Given the description of an element on the screen output the (x, y) to click on. 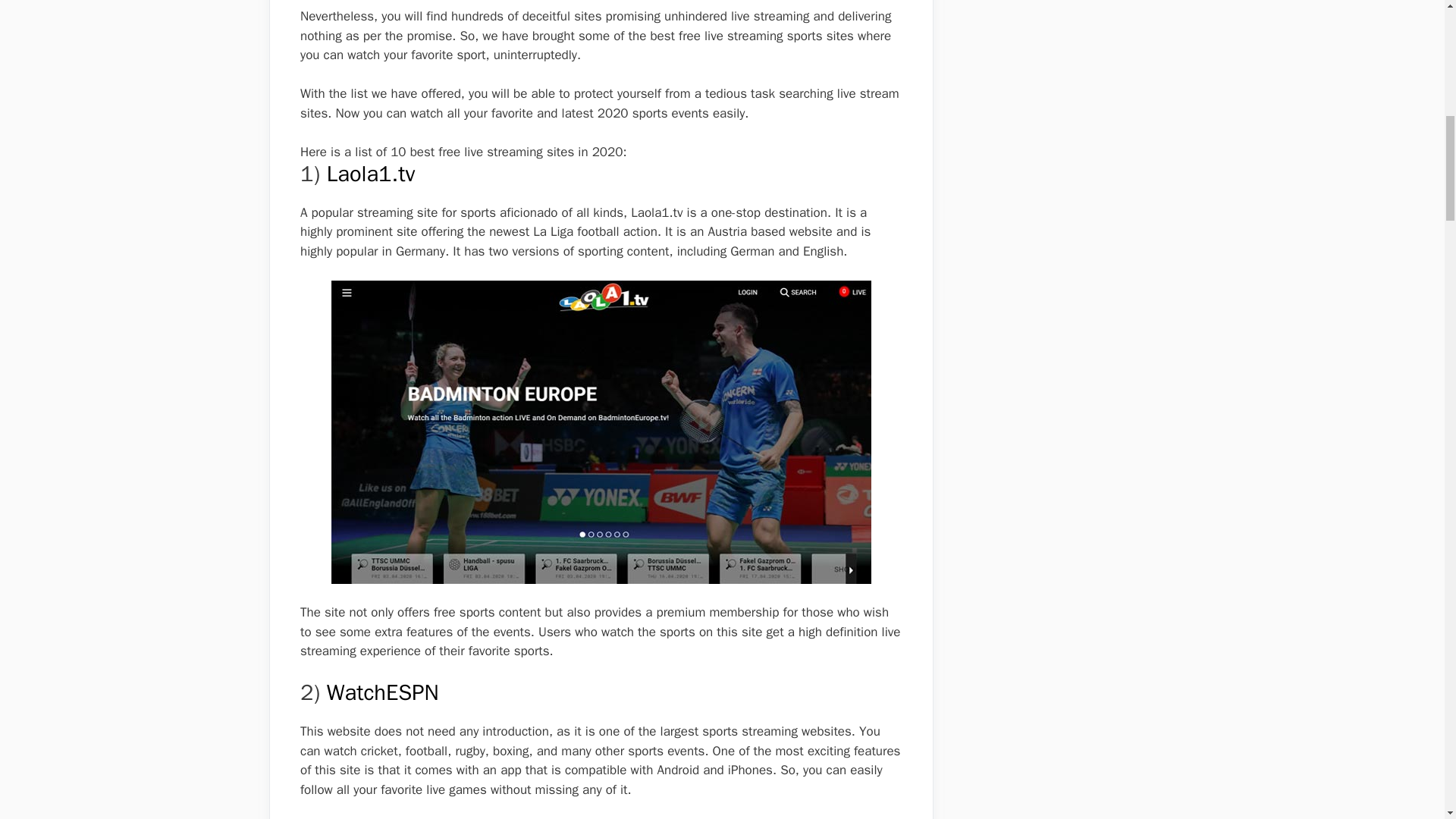
WatchESPN (382, 692)
Laola1.tv (370, 173)
Scroll back to top (1406, 720)
